Given the description of an element on the screen output the (x, y) to click on. 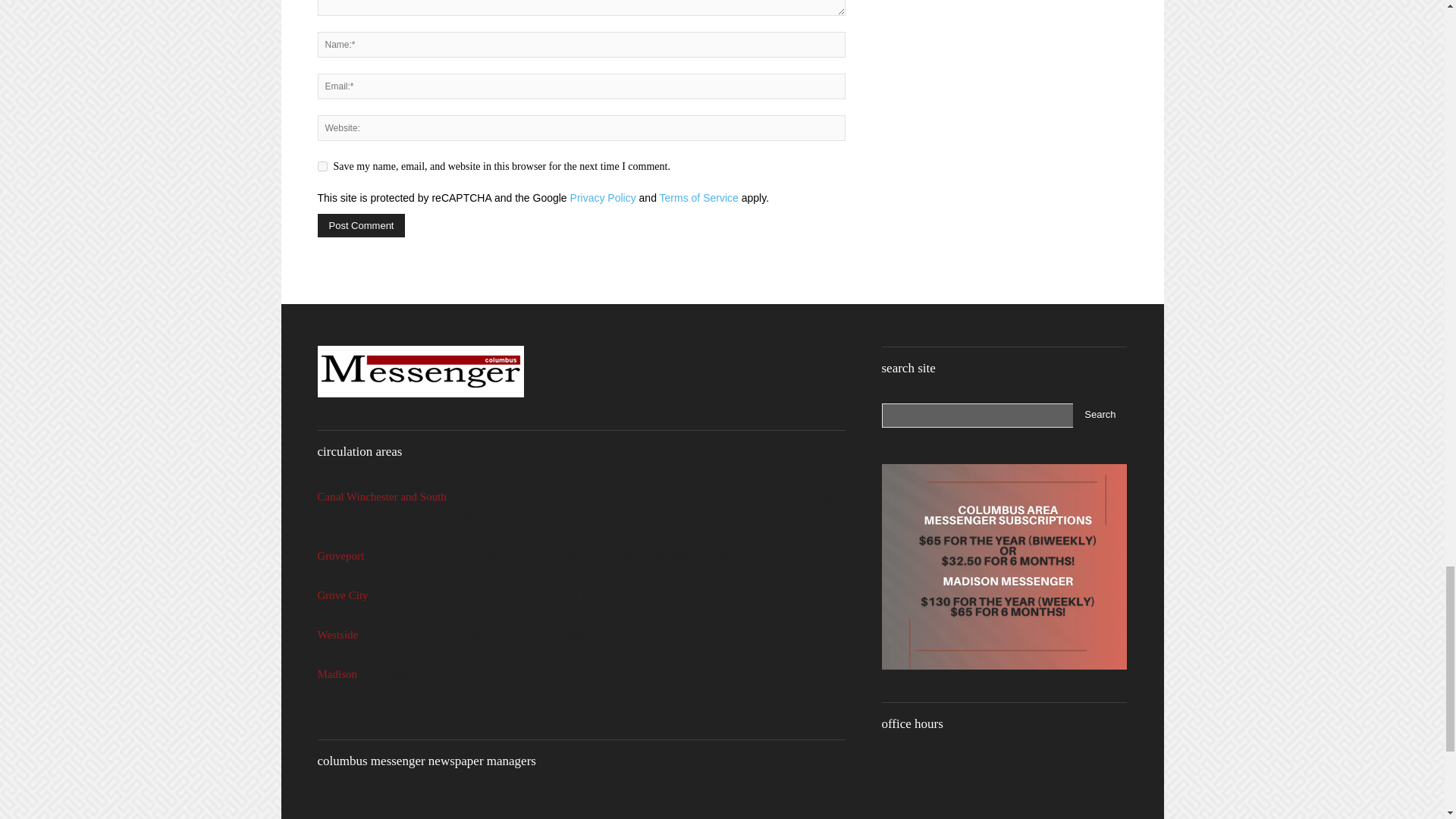
Post Comment (360, 225)
yes (321, 166)
Search (1099, 415)
